Given the description of an element on the screen output the (x, y) to click on. 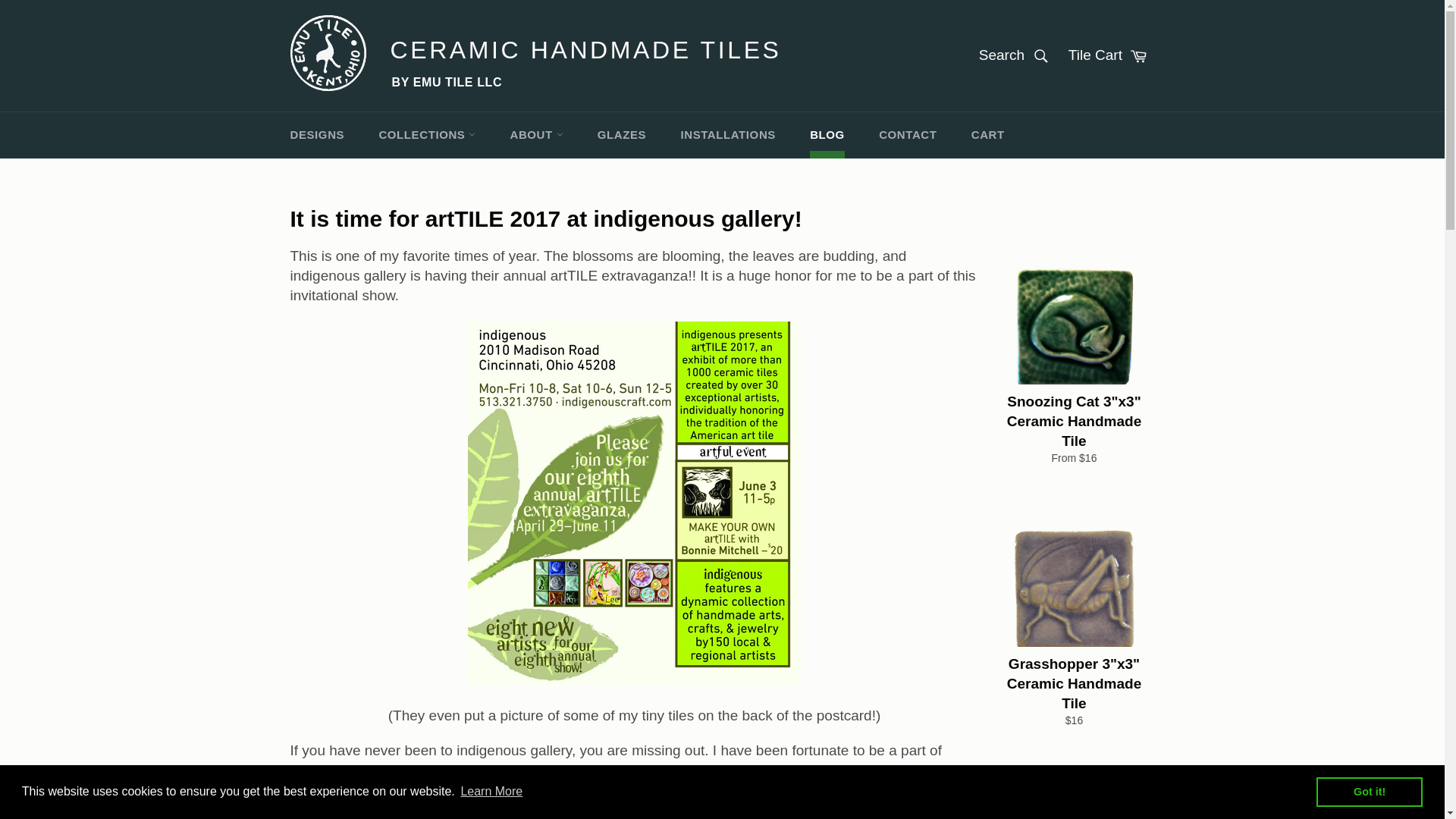
Got it! (1369, 791)
Show articles tagged Art Tile Show (1044, 812)
Learn More (491, 791)
